Given the description of an element on the screen output the (x, y) to click on. 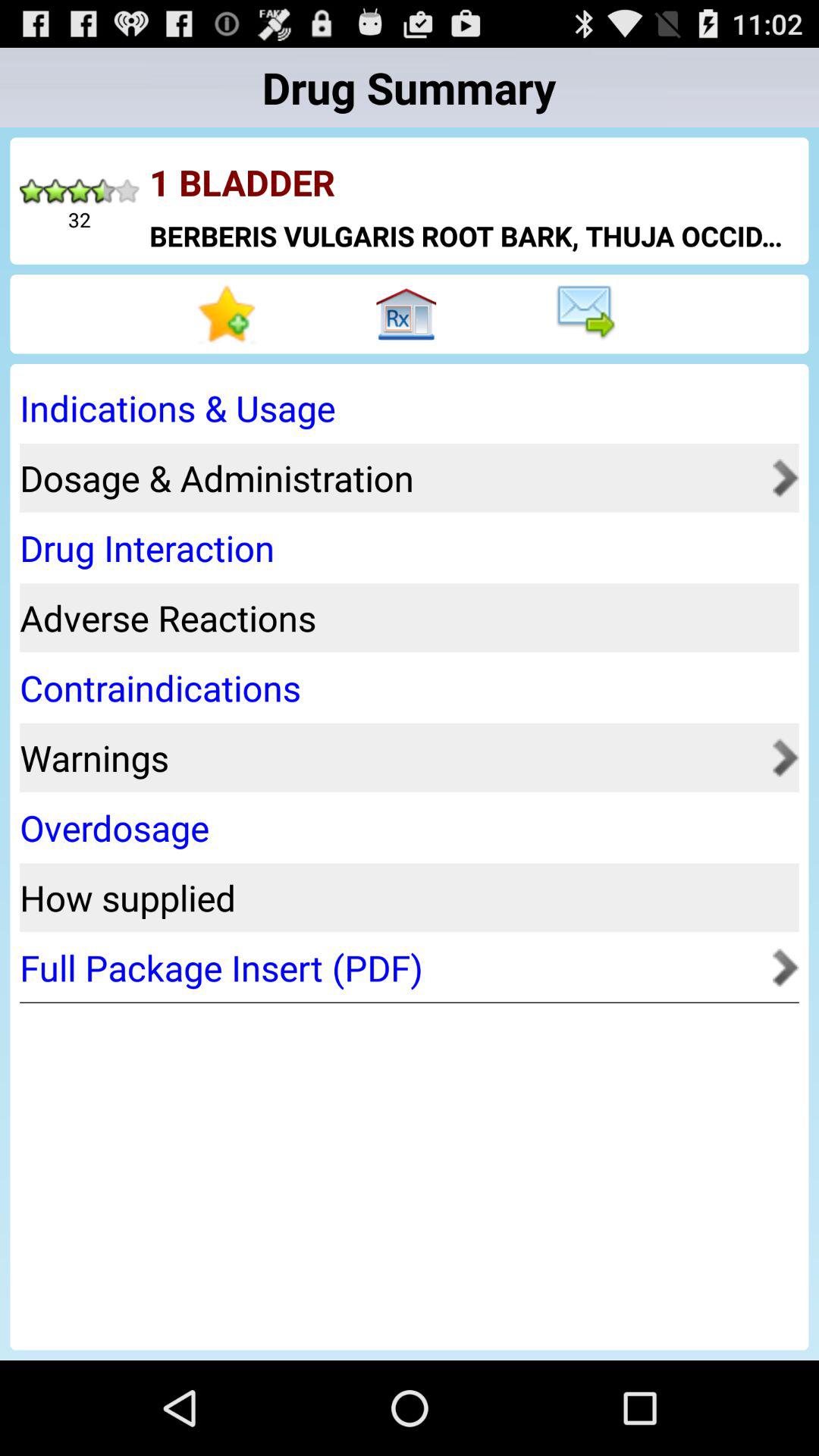
flip to the drug interaction item (403, 547)
